Given the description of an element on the screen output the (x, y) to click on. 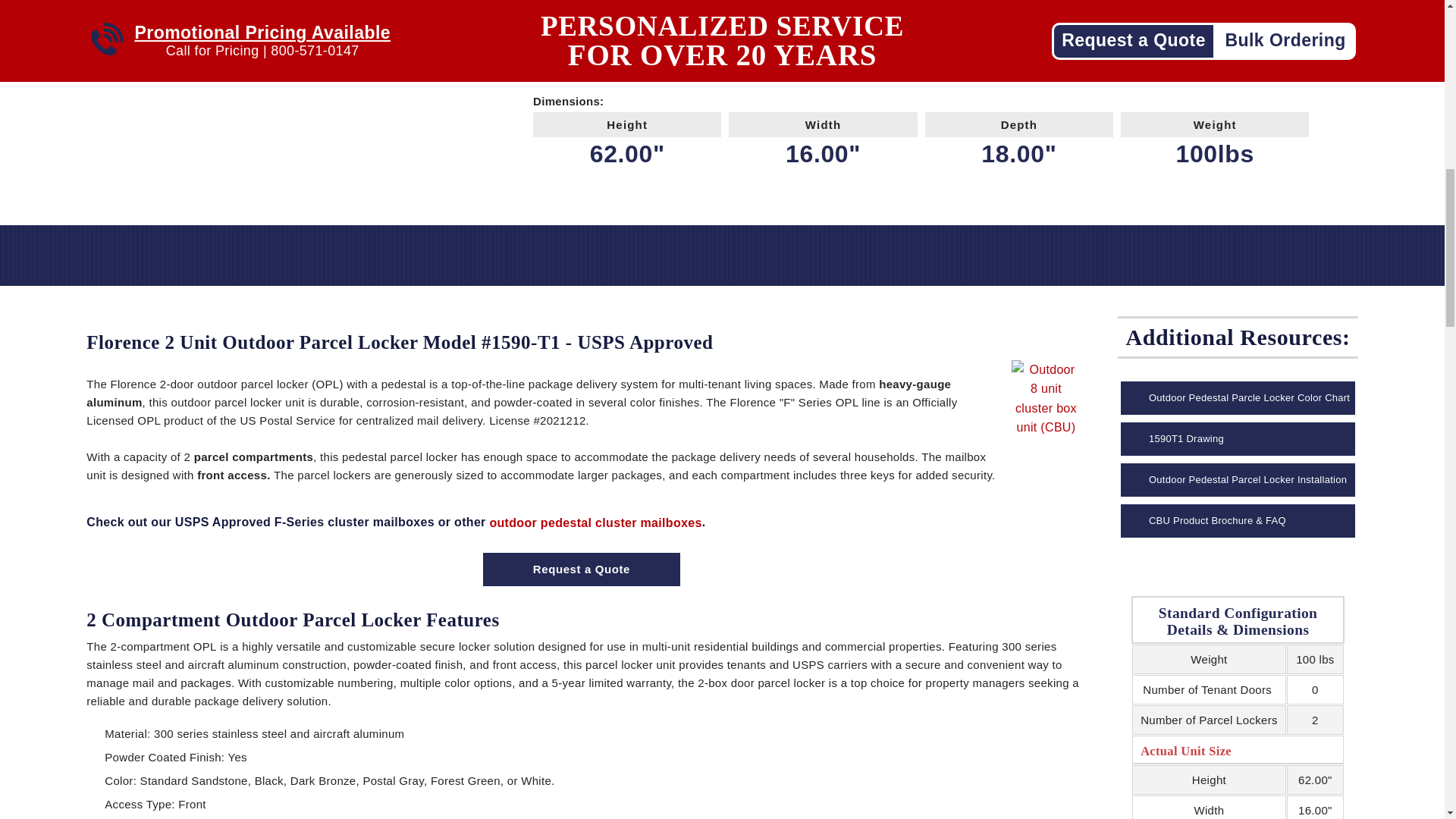
1590-T1 Outdoor Parcel Package Locker Mailbox (232, 12)
Outdoor Pedestal Parcle Locker Color Chart (1238, 397)
Call for Bulk Orders (631, 39)
1590-T1 Outdoor Parcel Package Locker Mailbox (232, 30)
1590T1 Drawing (1238, 438)
1590-T1 Outdoor Parcel Package Locker Mailbox (232, 48)
Request a Quote (581, 569)
Outdoor Pedestal Parcel Locker Installation (1238, 479)
1590-T1 Outdoor Parcel Package Locker Mailbox (232, 67)
outdoor pedestal cluster mailboxes (595, 523)
